Given the description of an element on the screen output the (x, y) to click on. 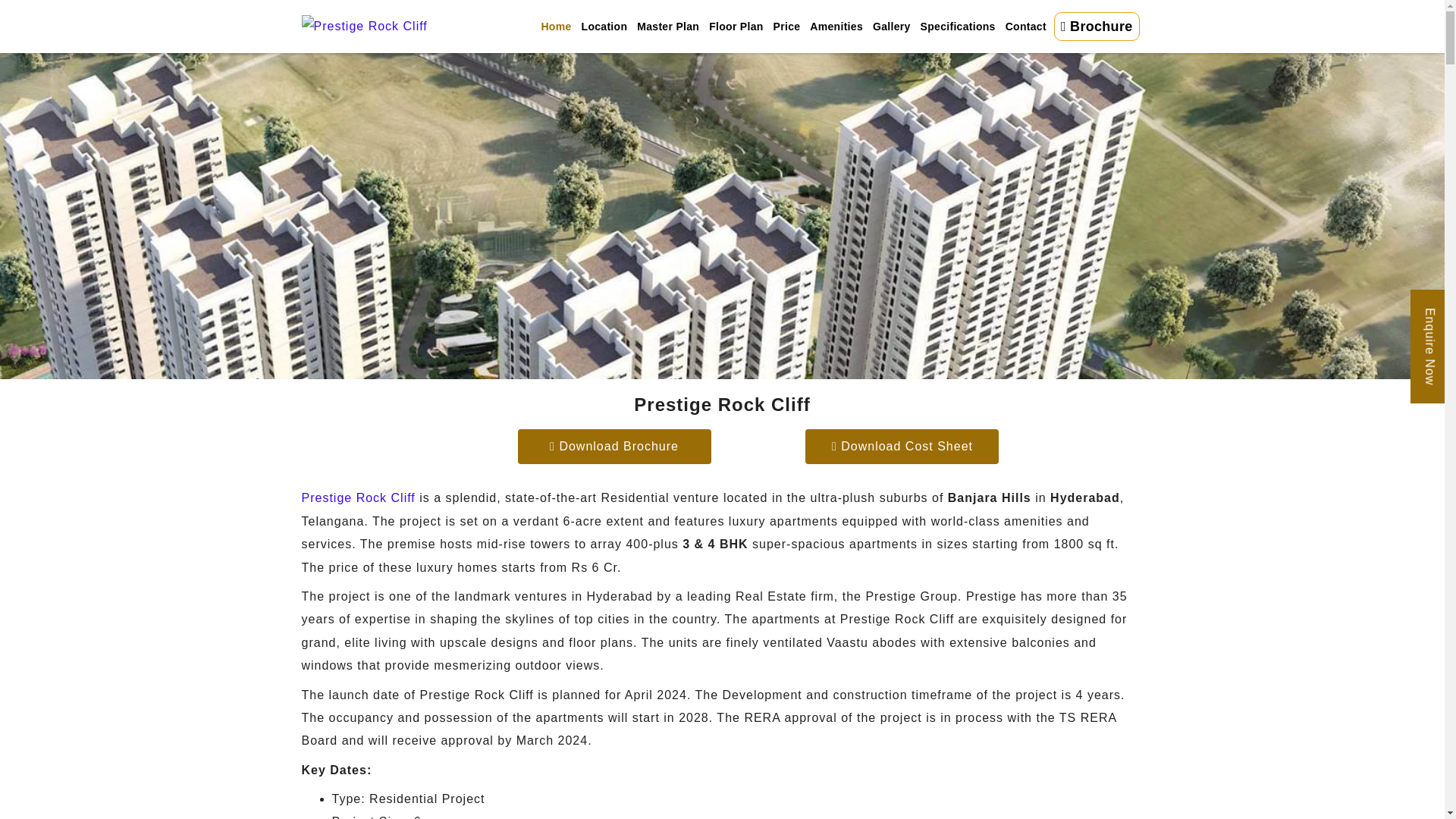
Brochure (1097, 26)
Gallery (890, 26)
Master Plan (666, 26)
Prestige Rock Cliff Amenities (834, 26)
 Prestige Rock Cliff (357, 497)
Prestige Rock Cliff Logo (364, 26)
Prestige Rock Cliff (357, 497)
Specifications (956, 26)
Floor Plan (735, 26)
Download Brochure (613, 446)
